Given the description of an element on the screen output the (x, y) to click on. 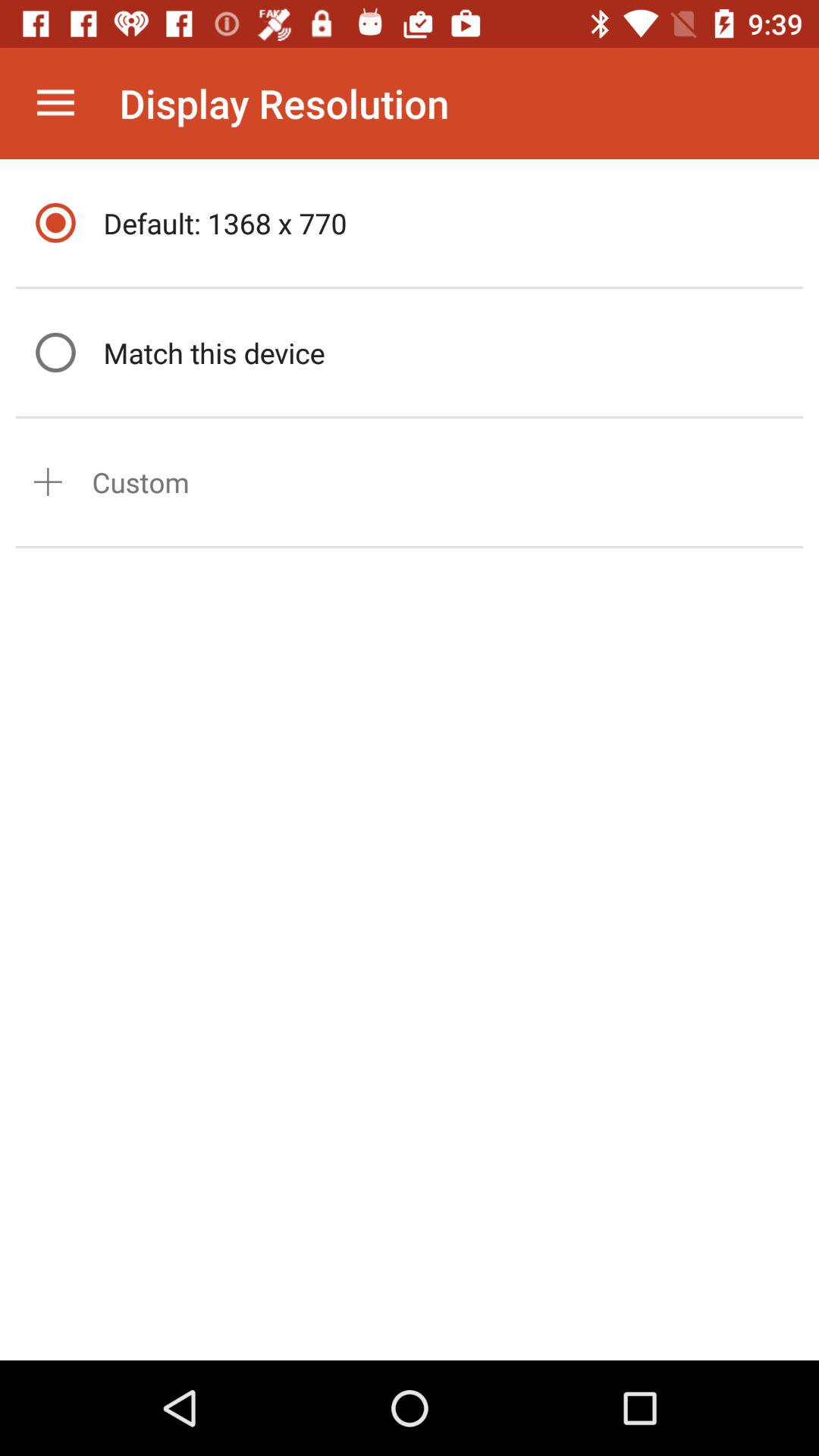
launch the item above the custom item (449, 352)
